Given the description of an element on the screen output the (x, y) to click on. 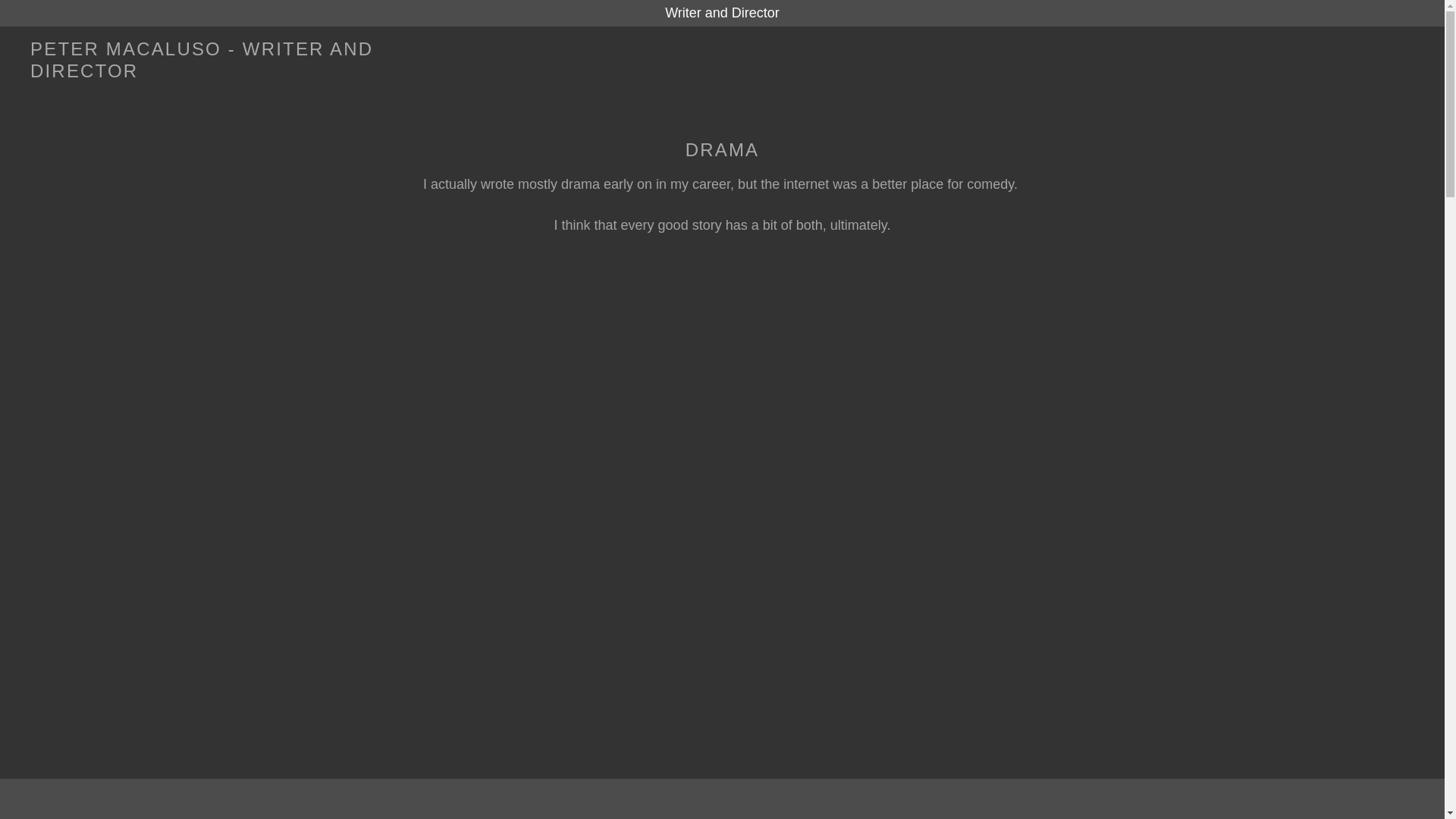
PETER MACALUSO - WRITER AND DIRECTOR (226, 72)
Peter Macaluso - Writer and Director (226, 72)
